Given the description of an element on the screen output the (x, y) to click on. 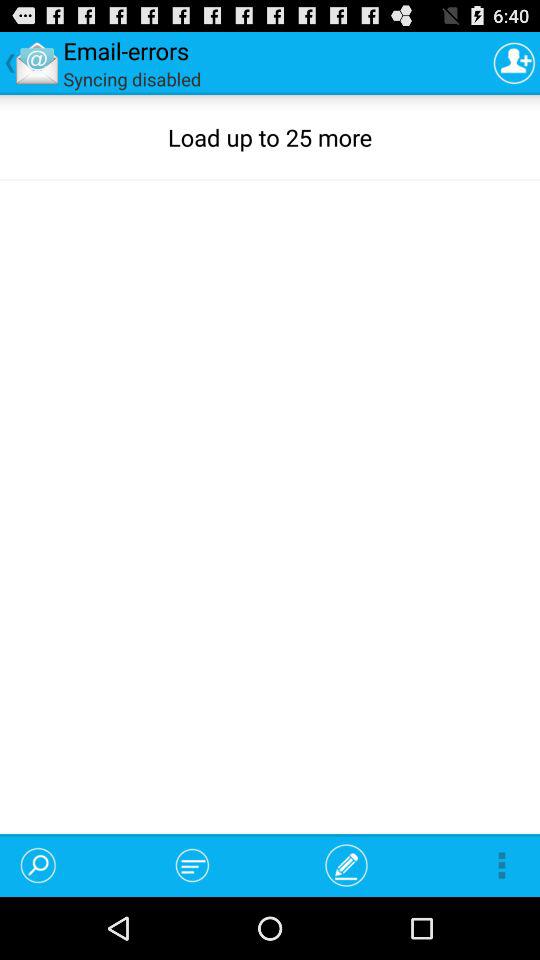
d (514, 62)
